Given the description of an element on the screen output the (x, y) to click on. 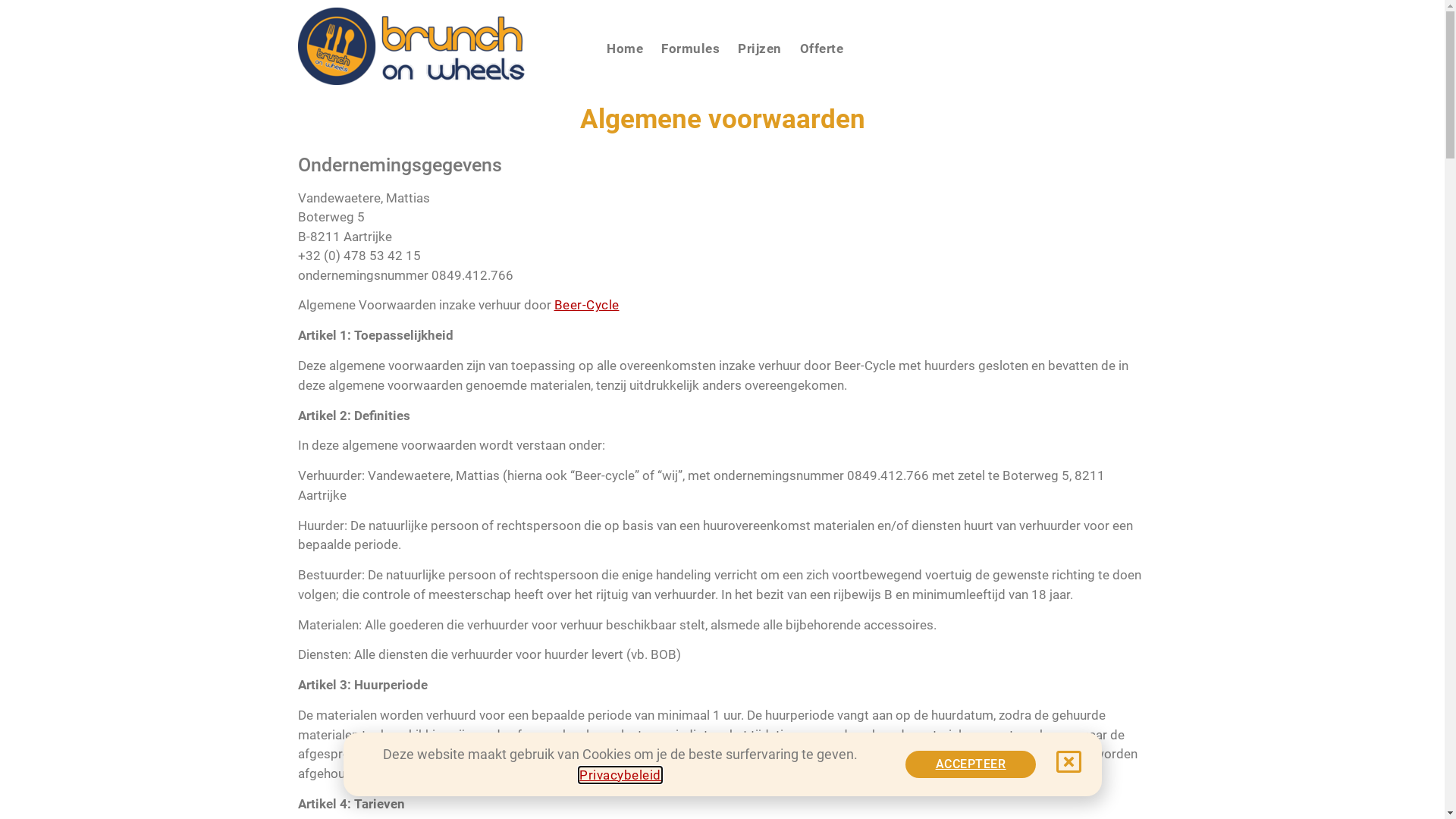
Offerte Element type: text (821, 48)
ACCEPTEER Element type: text (970, 764)
Prijzen Element type: text (759, 48)
Home Element type: text (624, 48)
Beer-Cycle Element type: text (585, 304)
Privacybeleid Element type: text (620, 774)
Formules Element type: text (690, 48)
